Given the description of an element on the screen output the (x, y) to click on. 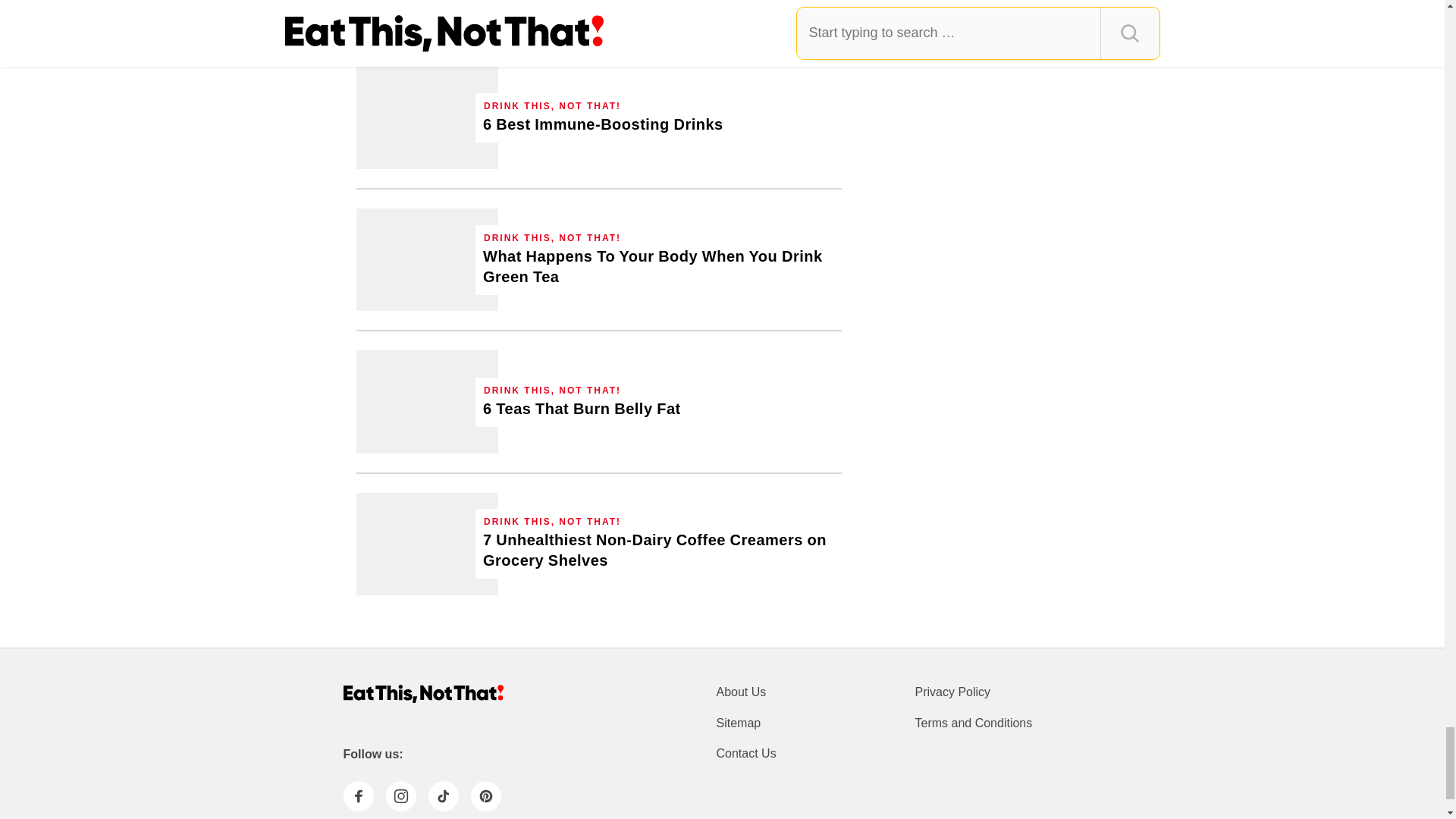
What Happens To Your Body When You Drink Green Tea (426, 259)
What Happens To Your Body When You Drink Green Tea (658, 266)
7 Unhealthiest Non-Dairy Coffee Creamers on Grocery Shelves (426, 544)
6 Teas That Burn Belly Fat (582, 408)
6 Best Immune-Boosting Drinks to Fight Off Sickness (603, 124)
7 Unhealthiest Non-Dairy Coffee Creamers on Grocery Shelves (658, 549)
6 Best Immune-Boosting Drinks to Fight Off Sickness (426, 117)
6 Teas That Burn Belly Fat (426, 401)
